Given the description of an element on the screen output the (x, y) to click on. 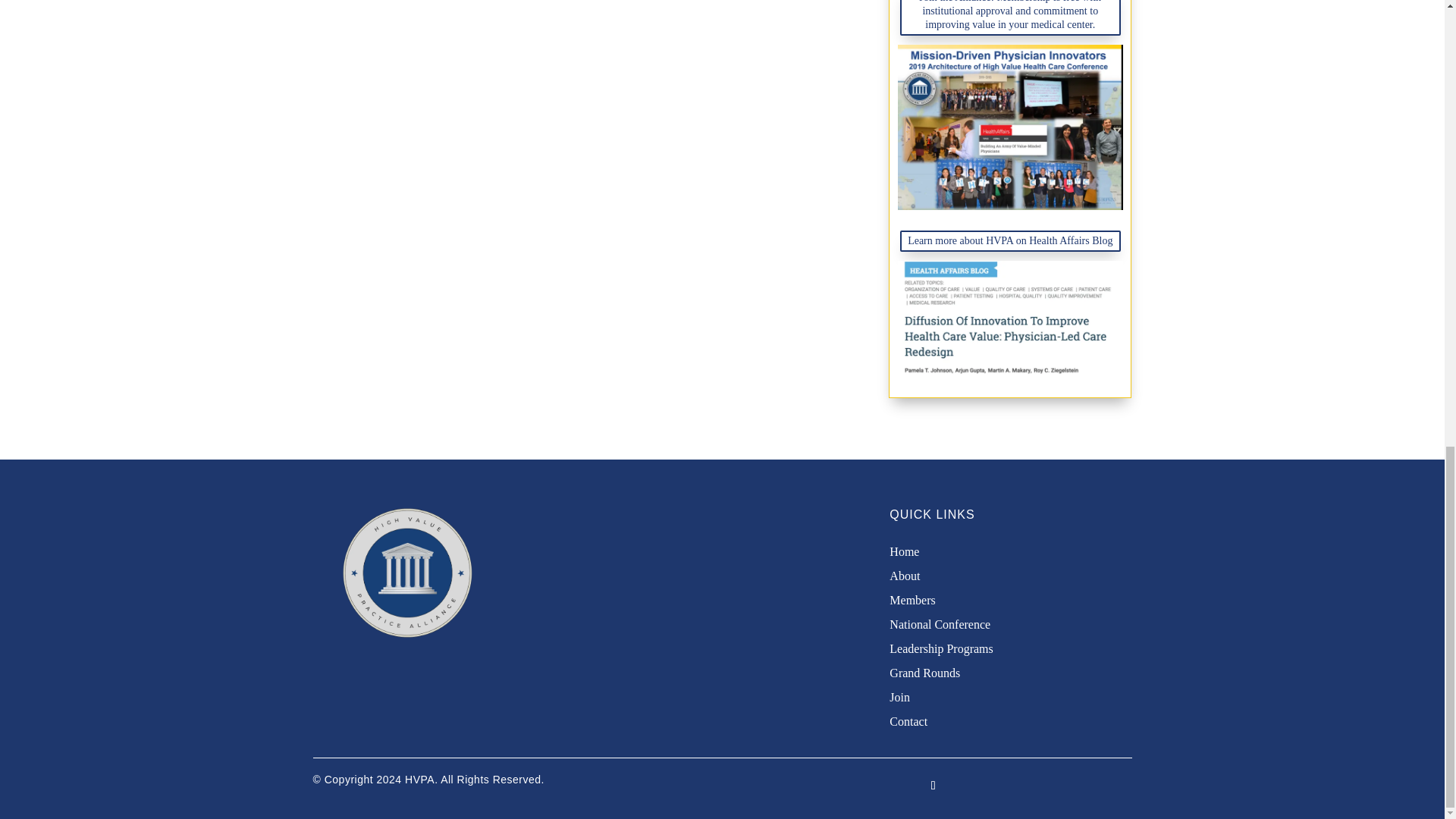
Follow on X (932, 785)
